Given the description of an element on the screen output the (x, y) to click on. 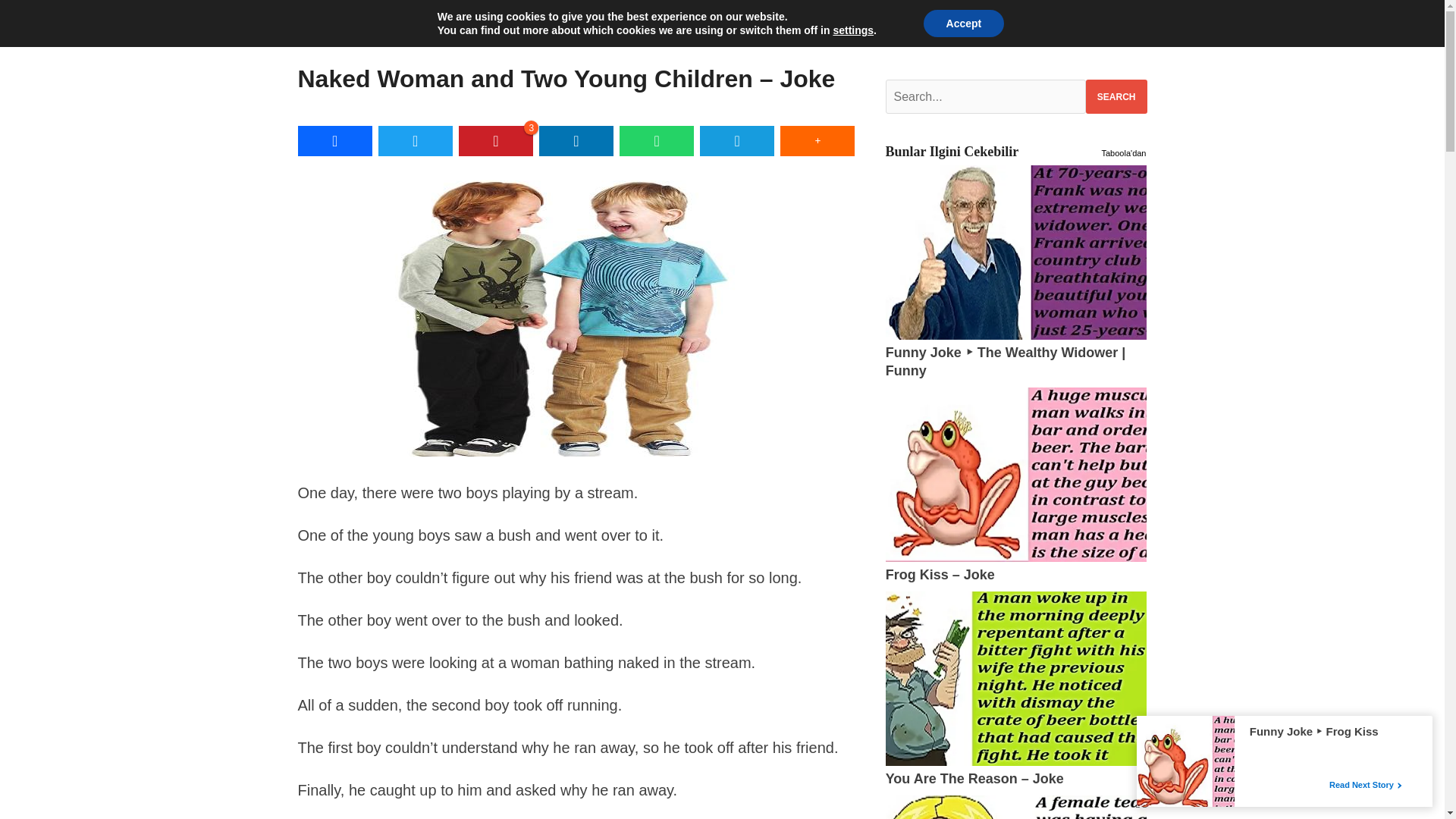
WhatsApp (657, 141)
QUOTES (607, 17)
Tweet this ! (415, 141)
RANDOM POST (710, 17)
FUNNY JOKE (430, 17)
More share links (817, 141)
Telegram (737, 141)
3 (495, 141)
STORY (525, 17)
Submit this to Pinterest (495, 141)
Share this on Facebook (334, 141)
FUNNY (336, 17)
Add this to LinkedIn (575, 141)
